Given the description of an element on the screen output the (x, y) to click on. 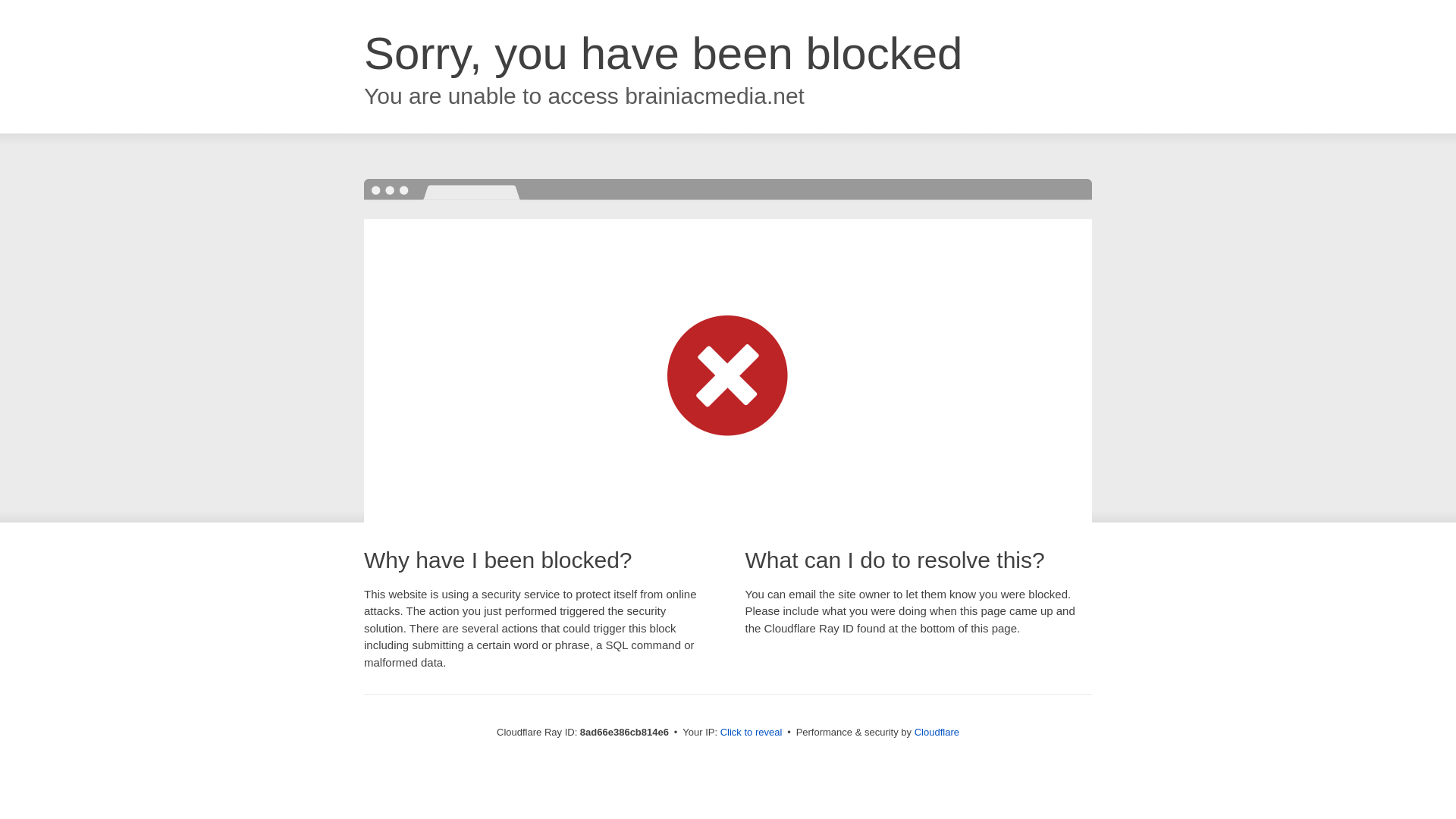
Cloudflare (936, 731)
Click to reveal (751, 732)
